Given the description of an element on the screen output the (x, y) to click on. 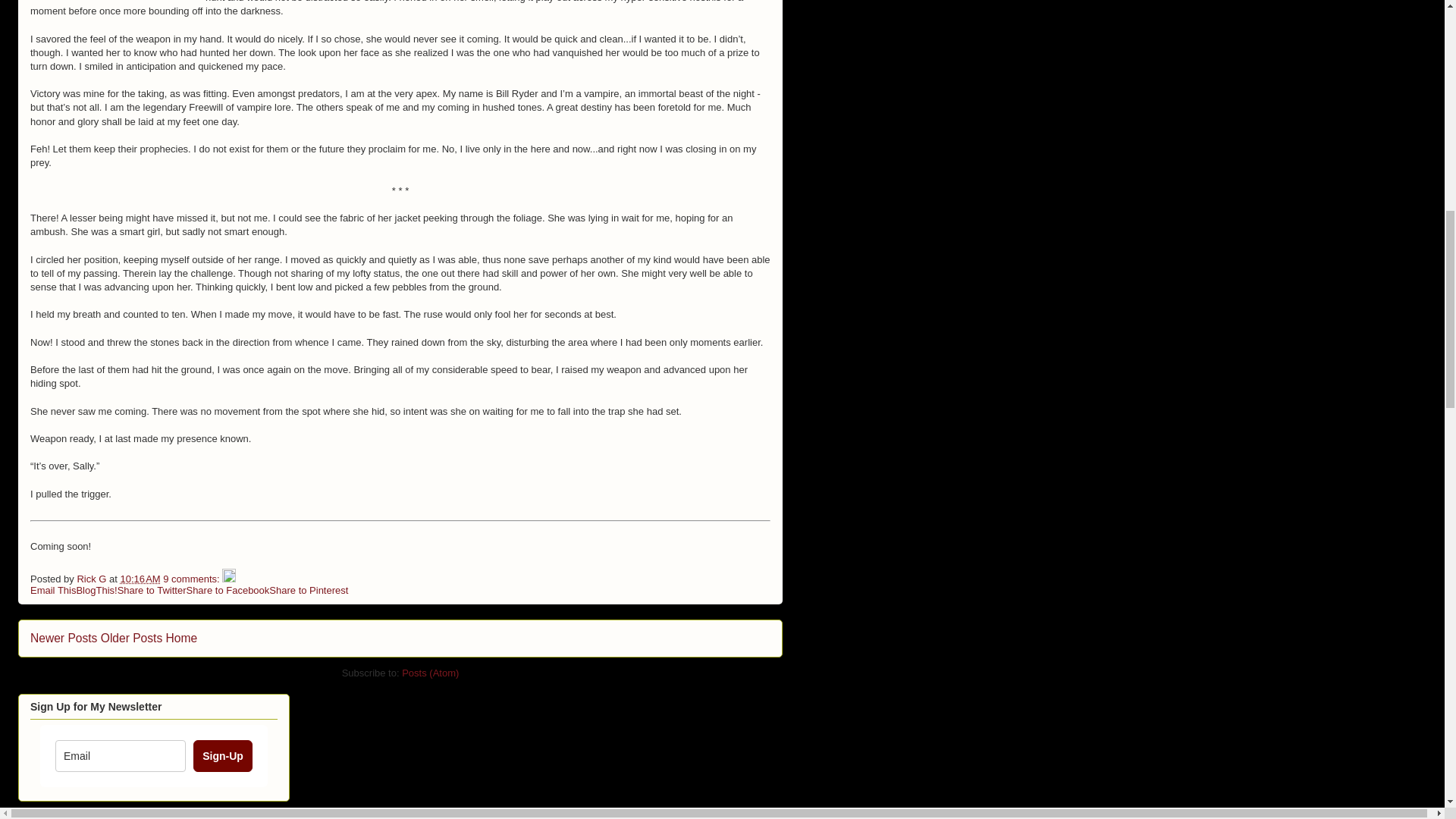
Edit Post (228, 578)
Share to Pinterest (308, 590)
Share to Pinterest (308, 590)
Share to Twitter (151, 590)
Newer Posts (63, 637)
Older Posts (130, 637)
Rick G (93, 578)
Email This (52, 590)
Older Posts (130, 637)
Home (181, 637)
permanent link (140, 578)
Share to Twitter (151, 590)
author profile (93, 578)
BlogThis! (95, 590)
